Given the description of an element on the screen output the (x, y) to click on. 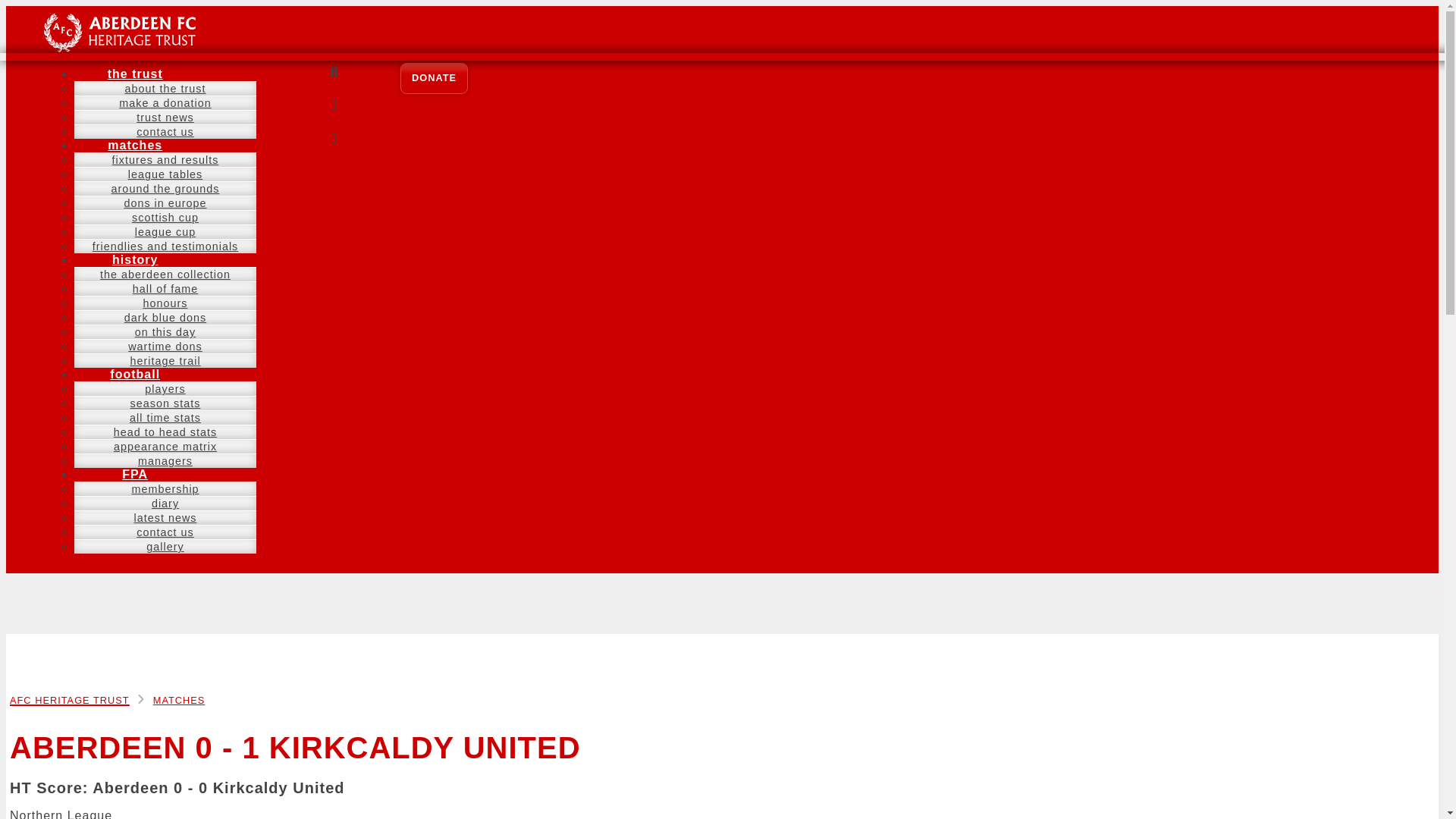
dons in europe (164, 203)
appearance matrix (164, 446)
contact us (165, 532)
contact us (165, 131)
diary (164, 502)
membership (164, 488)
league tables (165, 174)
friendlies and testimonials (165, 246)
make a donation (164, 103)
the trust (135, 74)
